Given the description of an element on the screen output the (x, y) to click on. 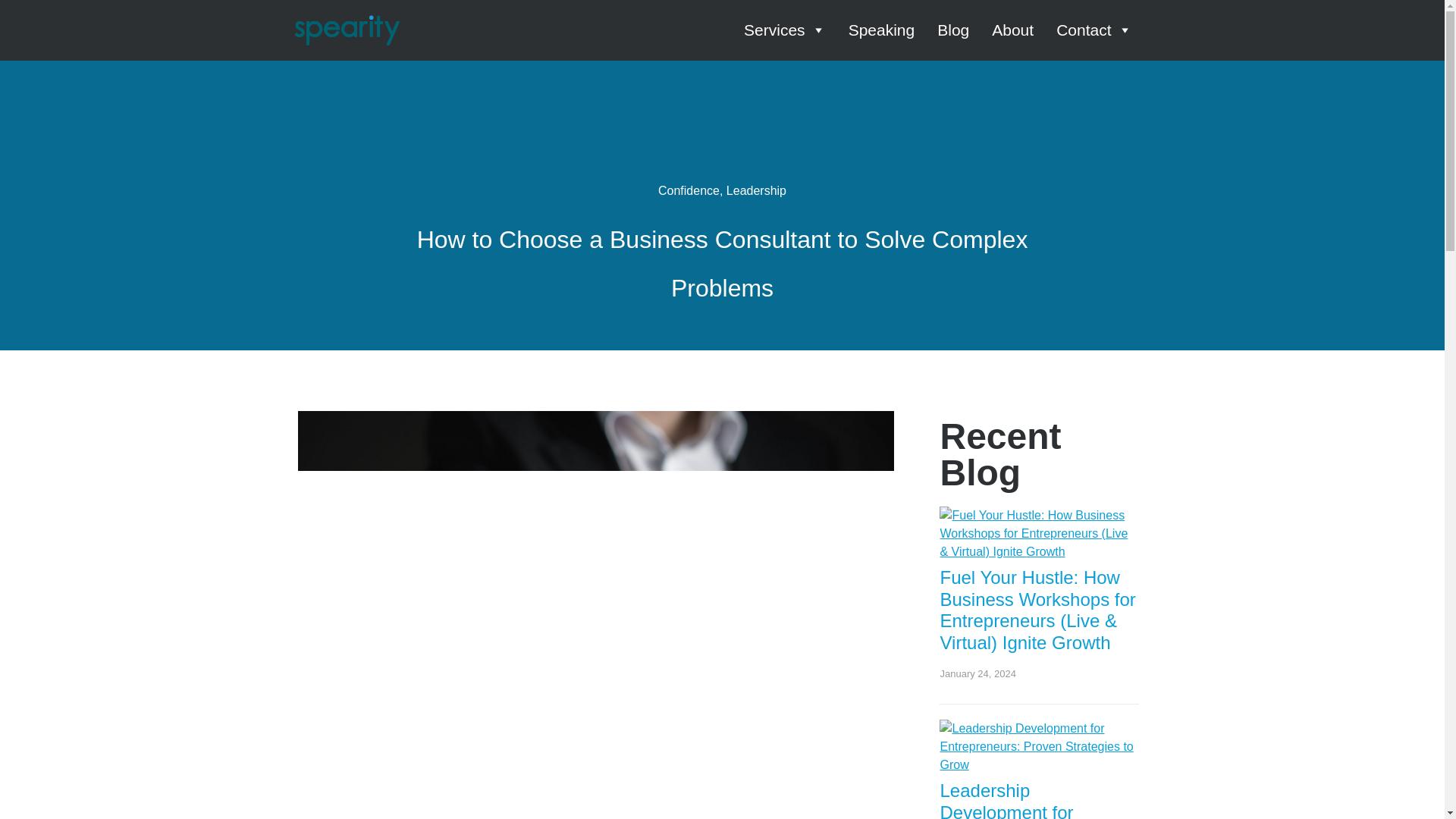
Blog (953, 30)
About (1012, 30)
Services (784, 30)
Contact (1094, 30)
Speaking (881, 30)
